Given the description of an element on the screen output the (x, y) to click on. 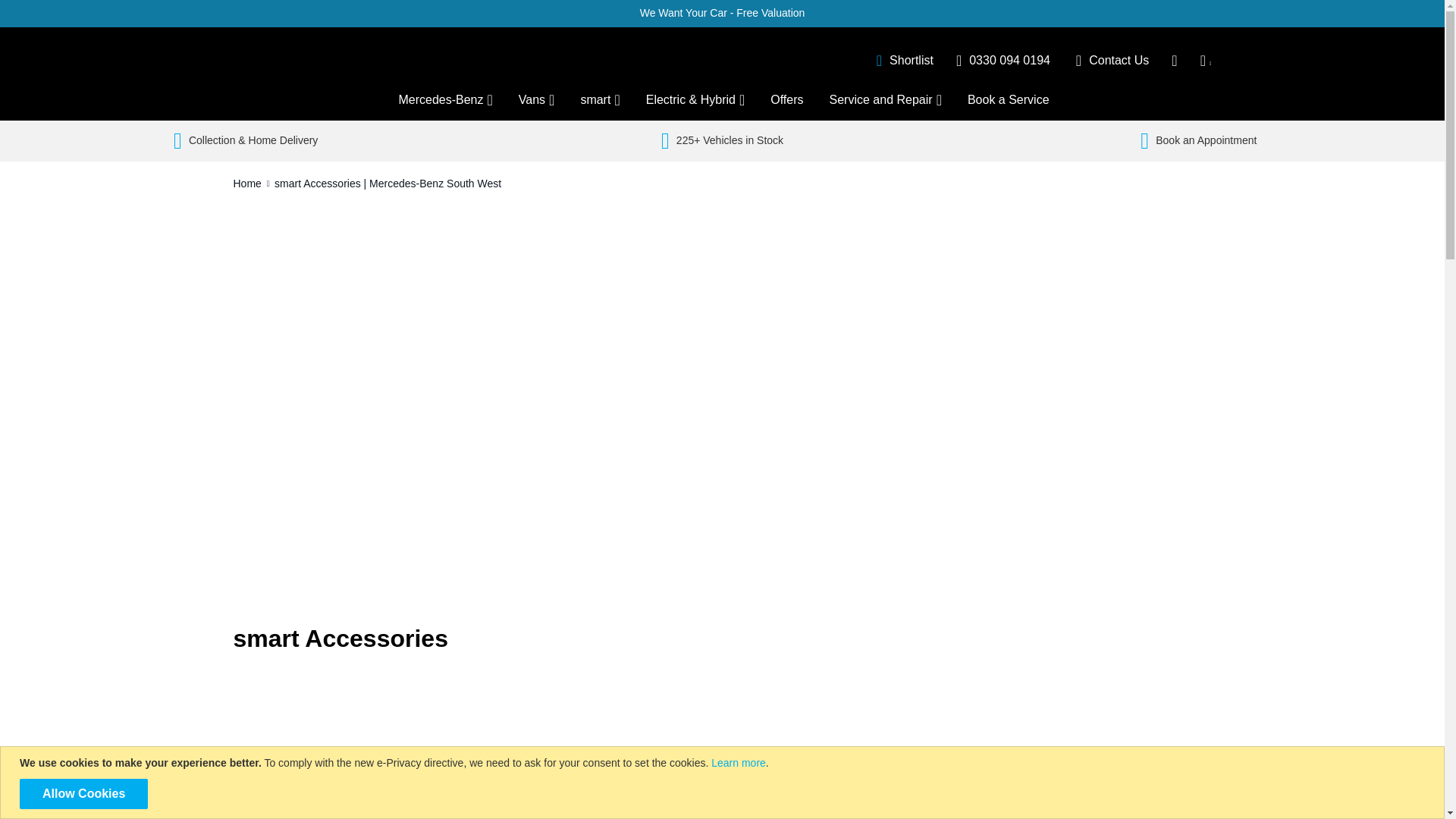
Allow Cookies (84, 793)
Mercedes-Benz (443, 100)
Shortlist (904, 59)
We Want Your Car - Free Valuation (722, 12)
Learn more (738, 762)
0330 094 0194 (1002, 59)
Contact Us (1111, 59)
